Given the description of an element on the screen output the (x, y) to click on. 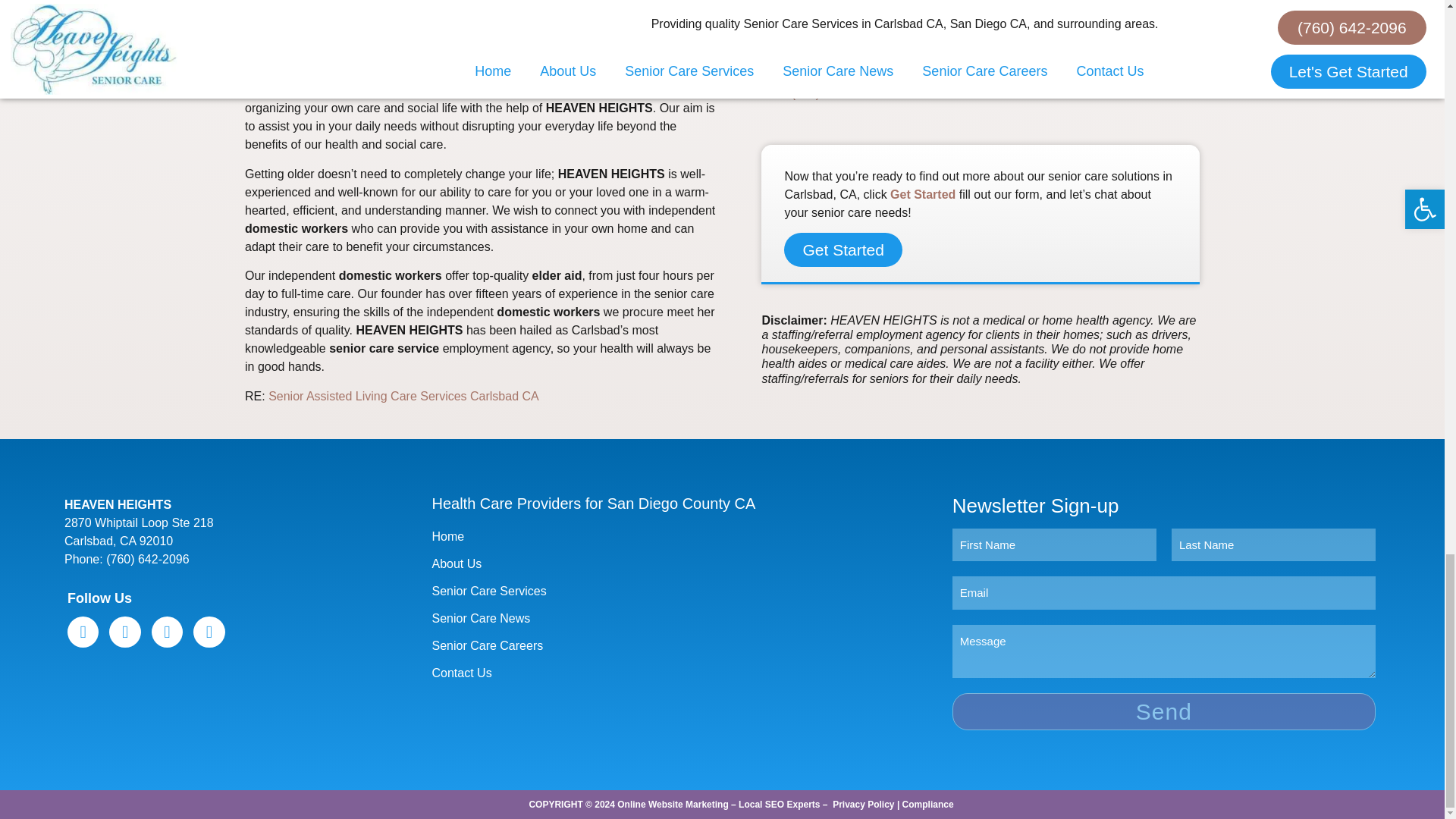
Compliance (927, 804)
Online Website Marketing - Local SEO Experts (718, 804)
Privacy Policy (862, 804)
